Given the description of an element on the screen output the (x, y) to click on. 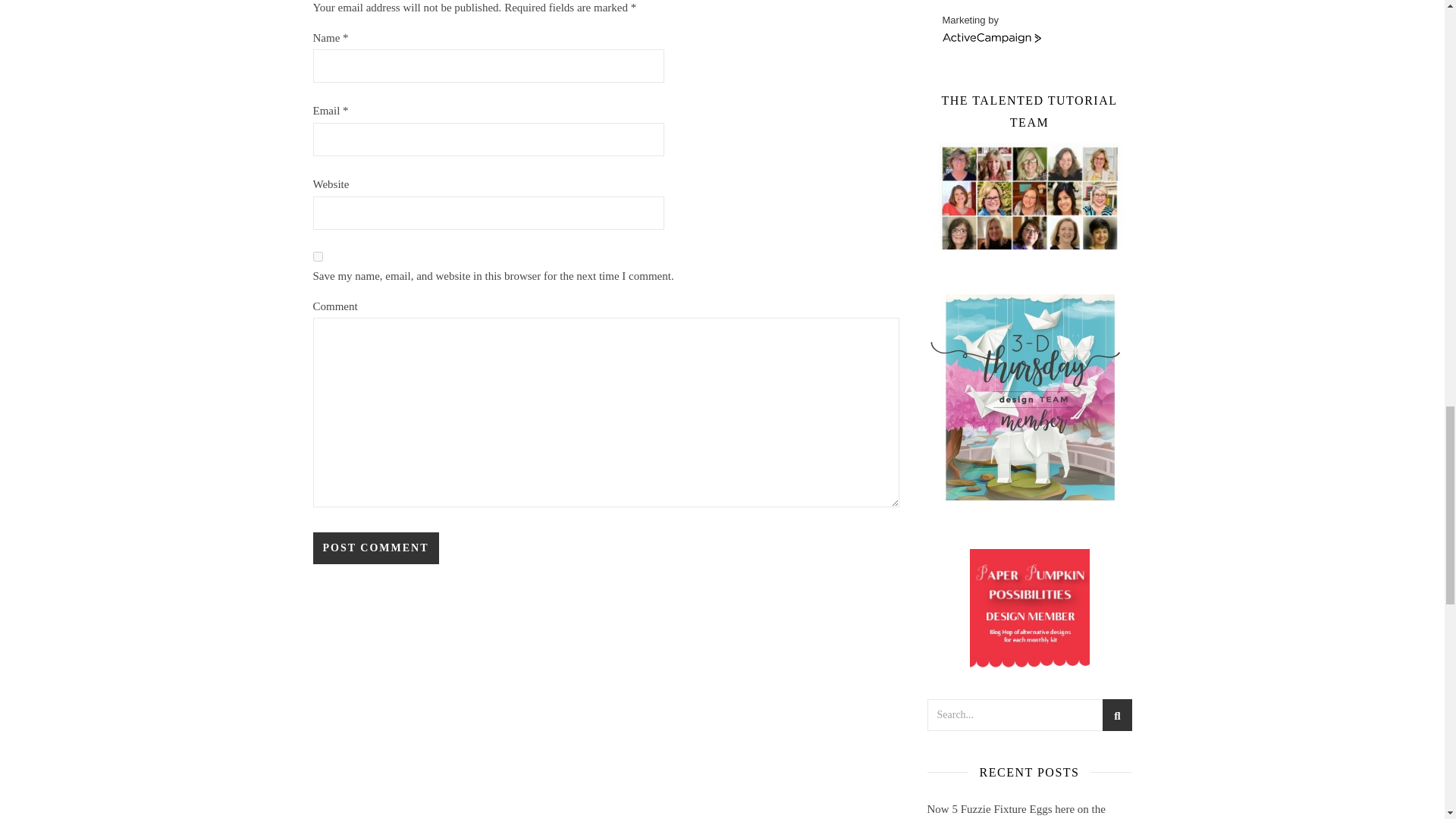
Now 5 Fuzzie Fixture Eggs here on the homestead (1015, 810)
Post Comment (375, 548)
ActiveCampaign (991, 38)
Post Comment (375, 548)
yes (317, 256)
